Given the description of an element on the screen output the (x, y) to click on. 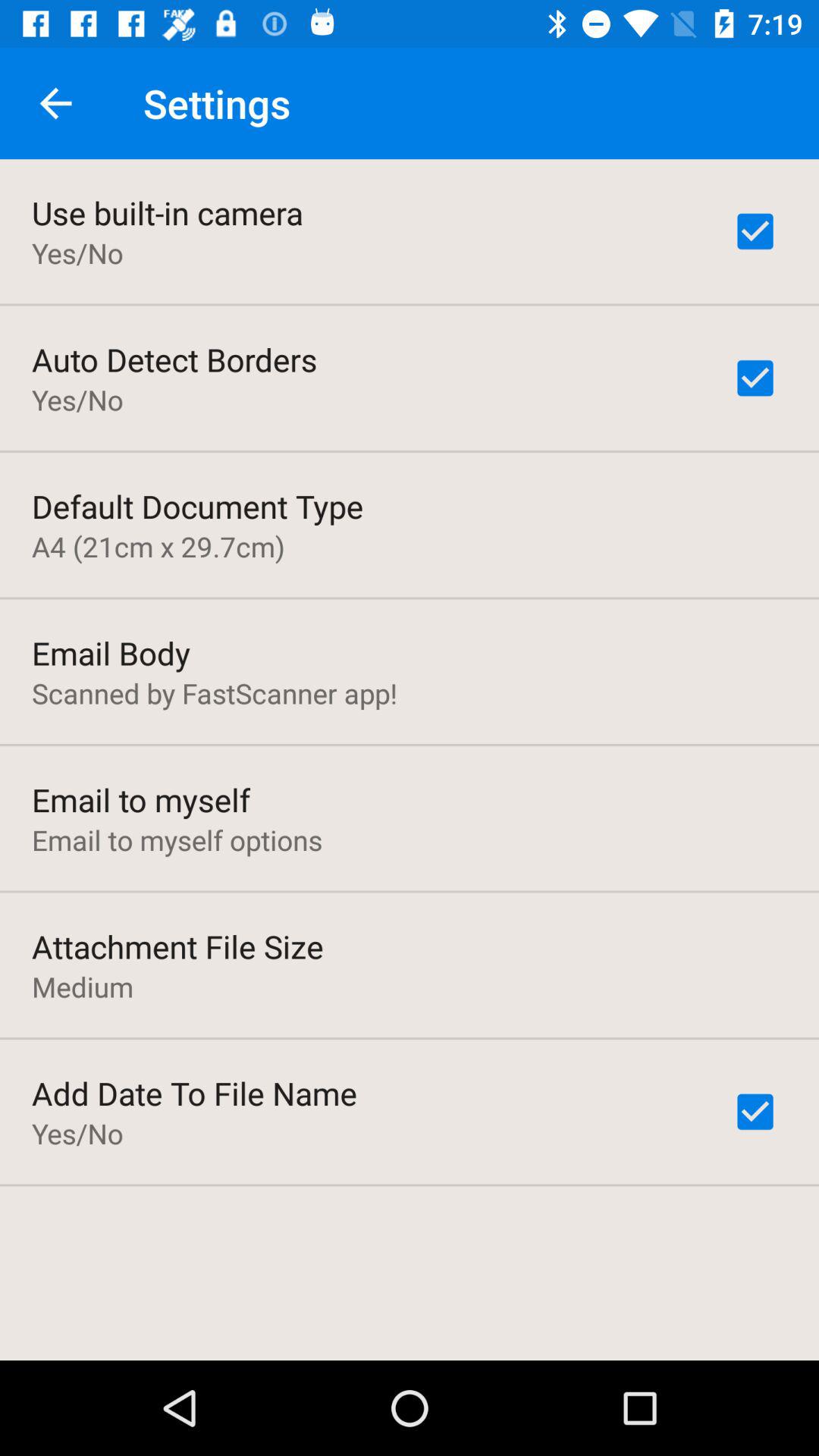
flip to the medium (82, 986)
